Given the description of an element on the screen output the (x, y) to click on. 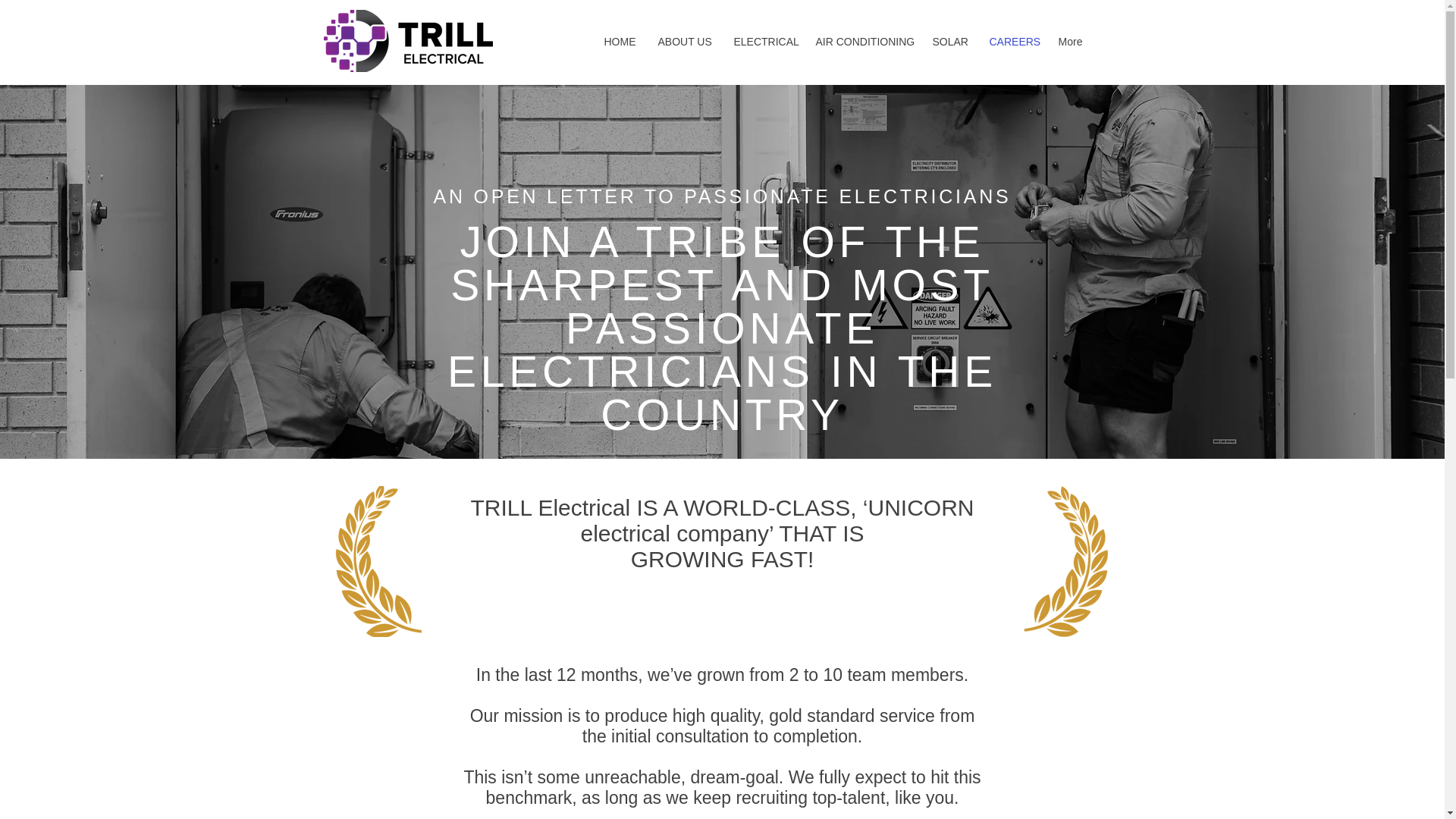
SOLAR (948, 41)
ABOUT US (684, 41)
HOME (619, 41)
AIR CONDITIONING (861, 41)
CAREERS (1012, 41)
